Given the description of an element on the screen output the (x, y) to click on. 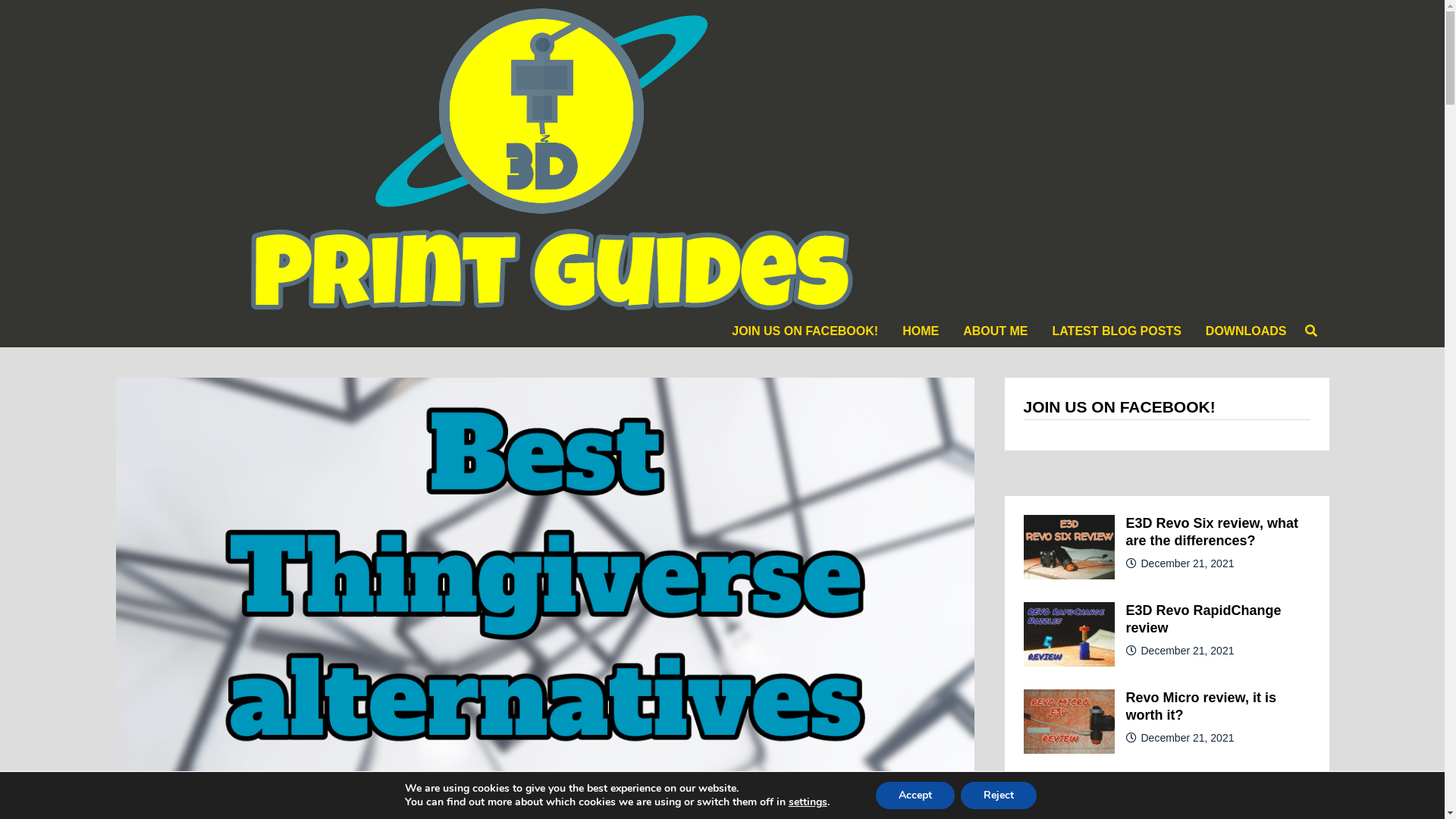
E3D Revo ecosystem REVIEW. Element type: hover (1068, 785)
Reject Element type: text (998, 795)
settings Element type: text (807, 802)
E3D Revo ecosystem REVIEW. Element type: text (1194, 793)
JOIN US ON FACEBOOK! Element type: text (804, 330)
Revo Micro review, it is worth it? Element type: text (1200, 706)
E3D Revo Six review, what are the differences? Element type: hover (1068, 524)
Accept Element type: text (914, 795)
December 21, 2021 Element type: text (1186, 737)
HOME Element type: text (920, 330)
December 21, 2021 Element type: text (1186, 650)
ABOUT ME Element type: text (994, 330)
Revo Micro review, it is worth it? Element type: hover (1068, 698)
E3D Revo RapidChange review Element type: text (1202, 618)
LATEST BLOG POSTS Element type: text (1115, 330)
E3D Revo RapidChange review Element type: hover (1068, 611)
December 21, 2021 Element type: text (1186, 563)
DOWNLOADS Element type: text (1246, 330)
E3D Revo Six review, what are the differences? Element type: text (1211, 531)
